Given the description of an element on the screen output the (x, y) to click on. 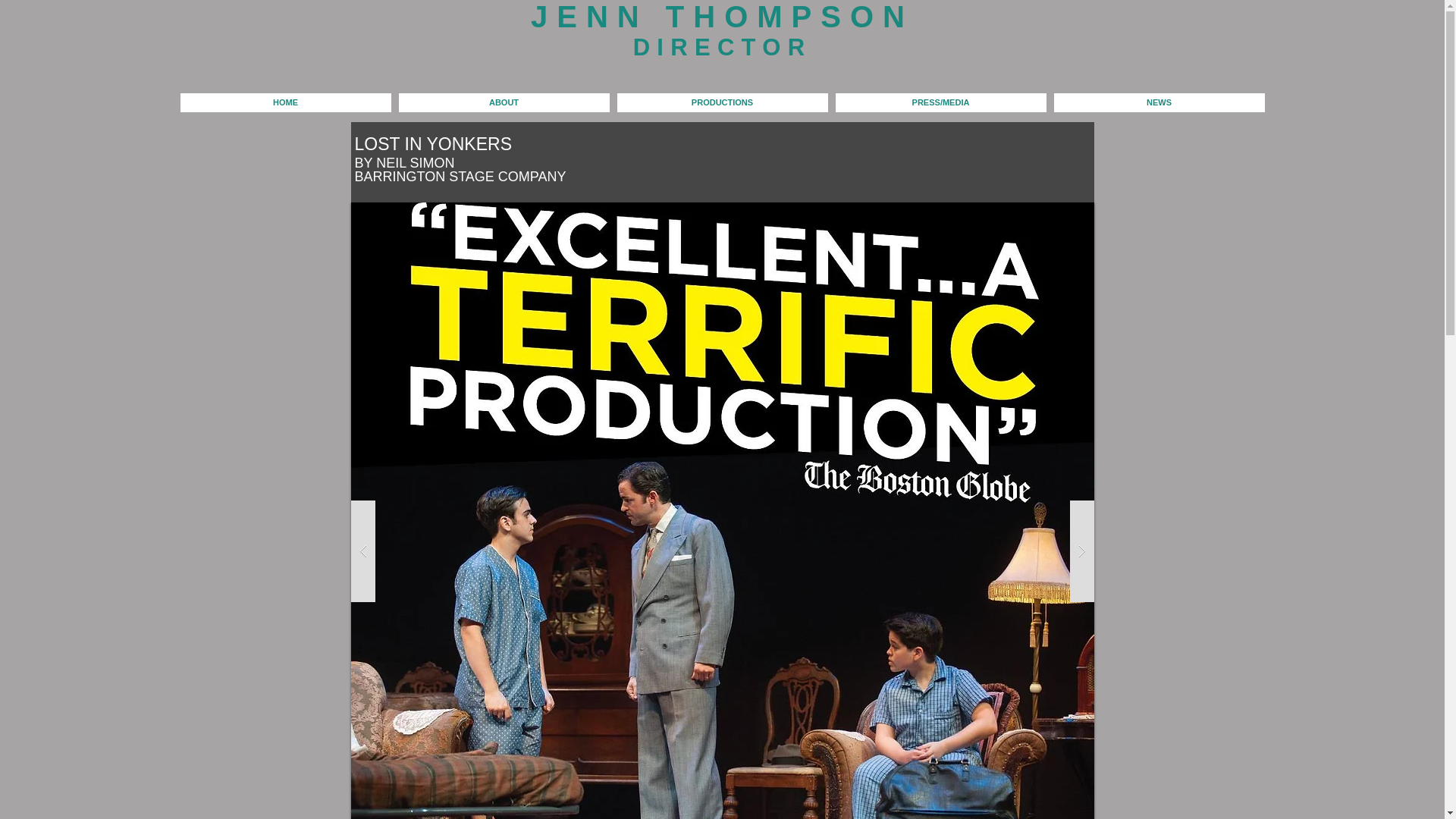
JENN THOMPSON (722, 16)
HOME (285, 102)
